Given the description of an element on the screen output the (x, y) to click on. 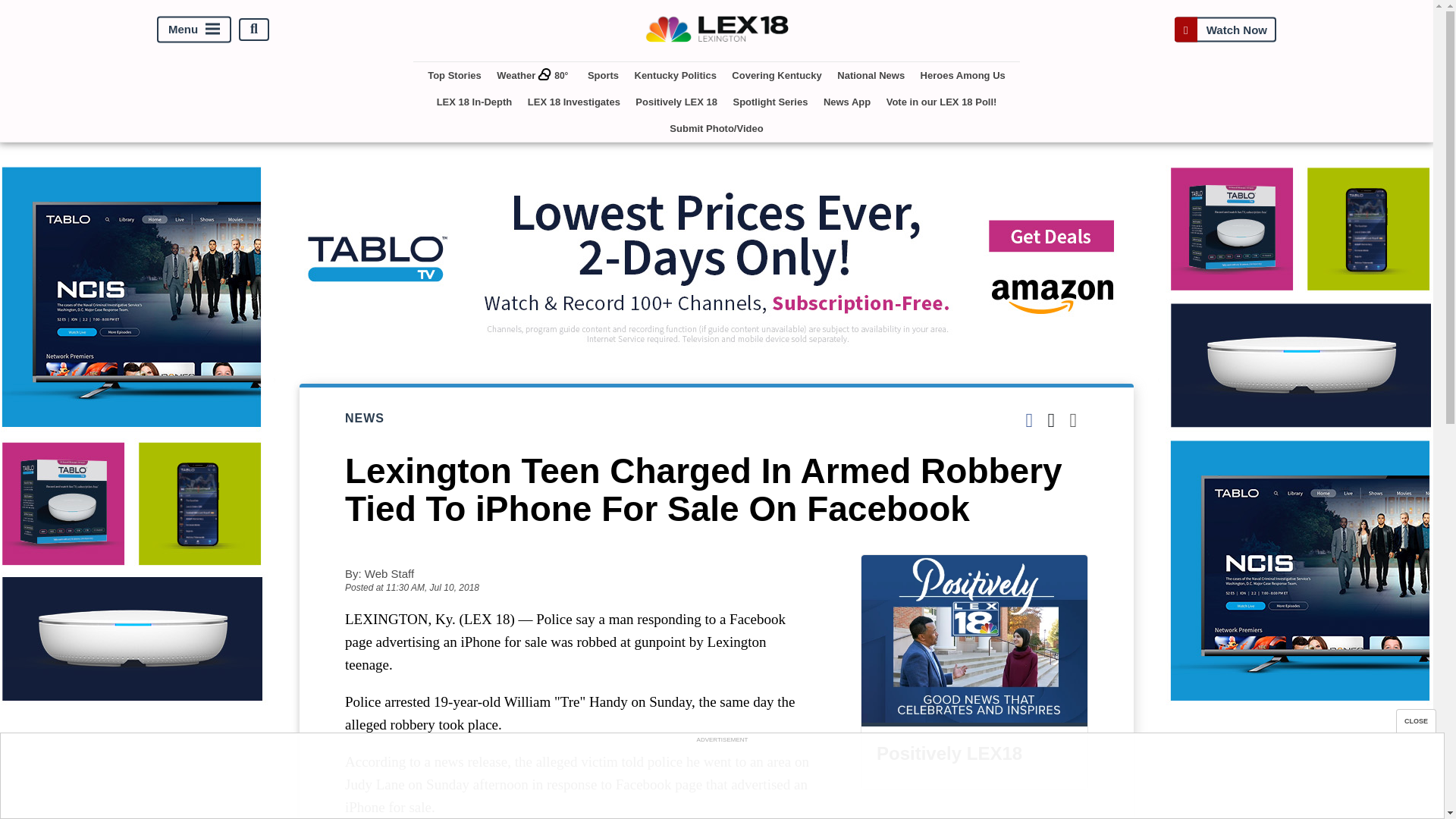
Menu (194, 28)
Watch Now (1224, 29)
3rd party ad content (721, 780)
